Given the description of an element on the screen output the (x, y) to click on. 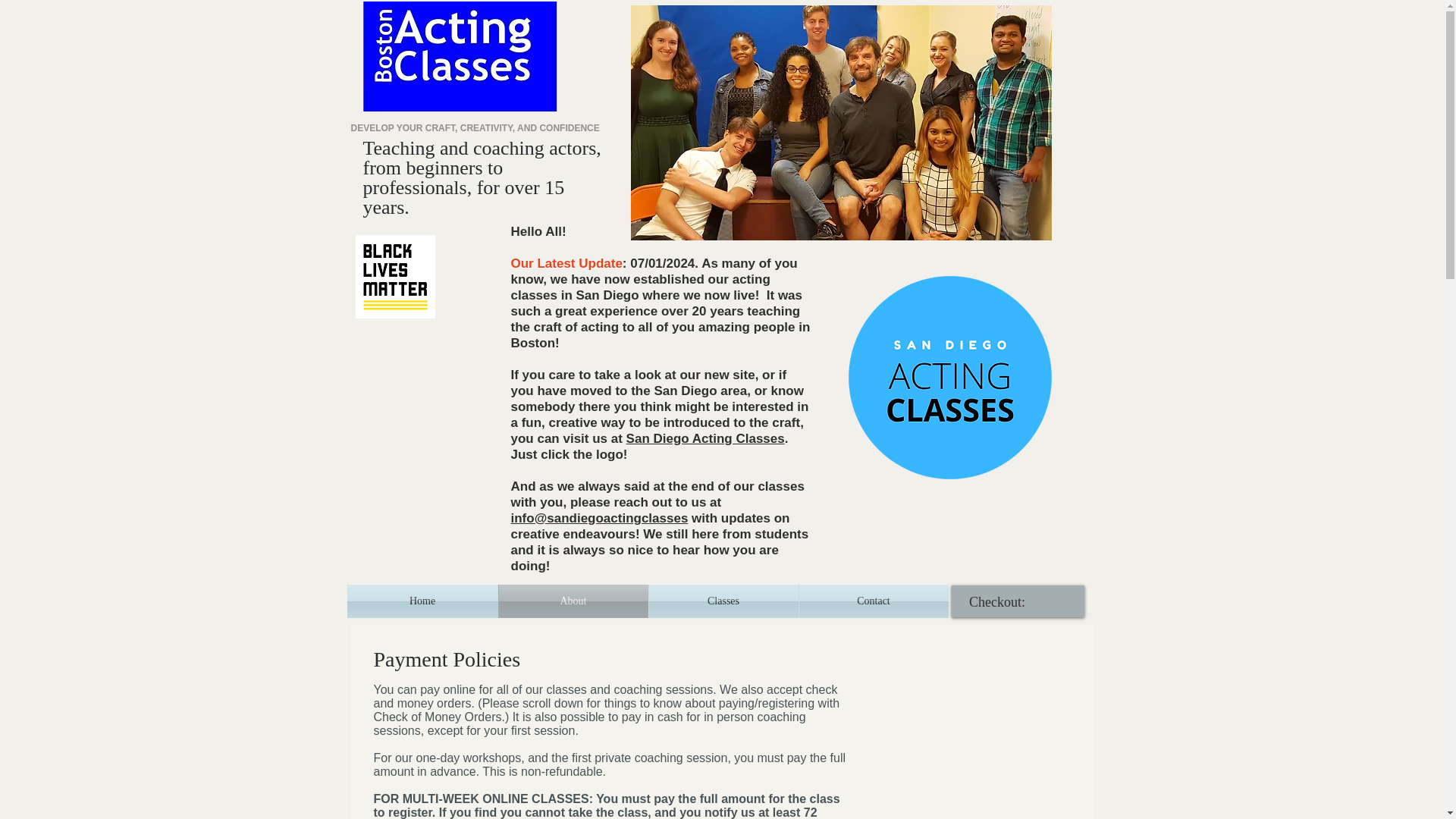
Contact (874, 601)
Home (422, 601)
Boston Acting Classes Logo 400.jpg (459, 56)
Checkout: (1008, 601)
Checkout: (1008, 601)
Classes (723, 601)
San Diego Acting Classes (705, 438)
About (573, 601)
